Given the description of an element on the screen output the (x, y) to click on. 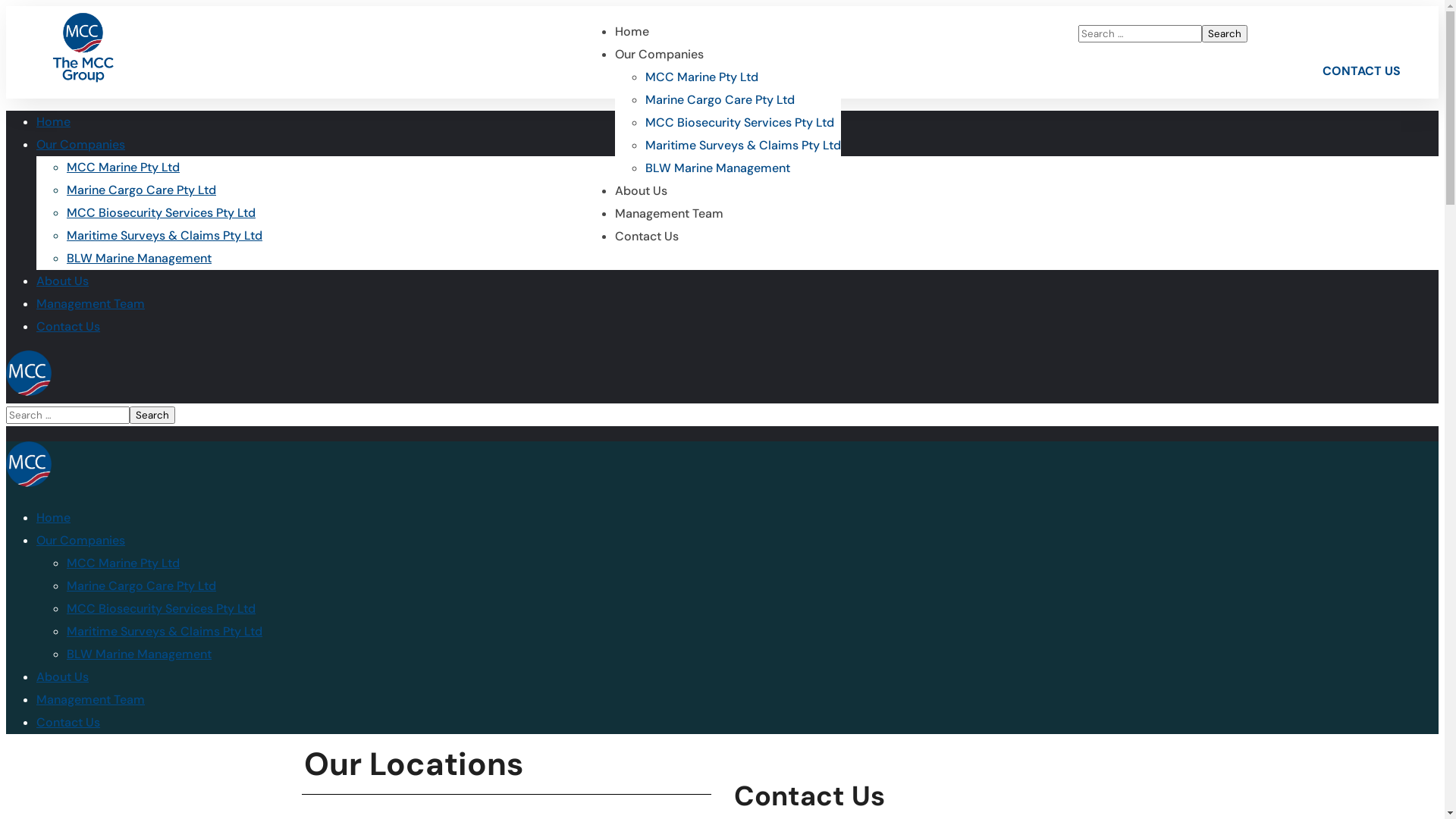
Marine Cargo Care Pty Ltd Element type: text (718, 99)
MCC Biosecurity Services Pty Ltd Element type: text (160, 608)
MCC Marine Pty Ltd Element type: text (122, 167)
Management Team Element type: text (668, 213)
Our Companies Element type: text (658, 54)
About Us Element type: text (640, 190)
Home Element type: text (53, 517)
BLW Marine Management Element type: text (138, 654)
MCC Marine Pty Ltd Element type: text (122, 563)
Our Companies Element type: text (80, 144)
MCC Biosecurity Services Pty Ltd Element type: text (738, 122)
Management Team Element type: text (90, 303)
Our Companies Element type: text (80, 540)
Management Team Element type: text (90, 699)
BLW Marine Management Element type: text (716, 167)
Maritime Surveys & Claims Pty Ltd Element type: text (164, 235)
Contact Us Element type: text (68, 326)
BLW Marine Management Element type: text (138, 258)
Search Element type: text (1224, 33)
Maritime Surveys & Claims Pty Ltd Element type: text (164, 631)
Marine Cargo Care Pty Ltd Element type: text (141, 189)
MCC Biosecurity Services Pty Ltd Element type: text (160, 212)
Contact Us Element type: text (68, 722)
Home Element type: text (631, 31)
Marine Cargo Care Pty Ltd Element type: text (141, 585)
Maritime Surveys & Claims Pty Ltd Element type: text (742, 145)
CONTACT US Element type: text (1361, 70)
Search Element type: text (152, 414)
Contact Us Element type: text (645, 236)
Home Element type: text (53, 121)
MCC Marine Pty Ltd Element type: text (700, 76)
About Us Element type: text (62, 280)
About Us Element type: text (62, 676)
